Given the description of an element on the screen output the (x, y) to click on. 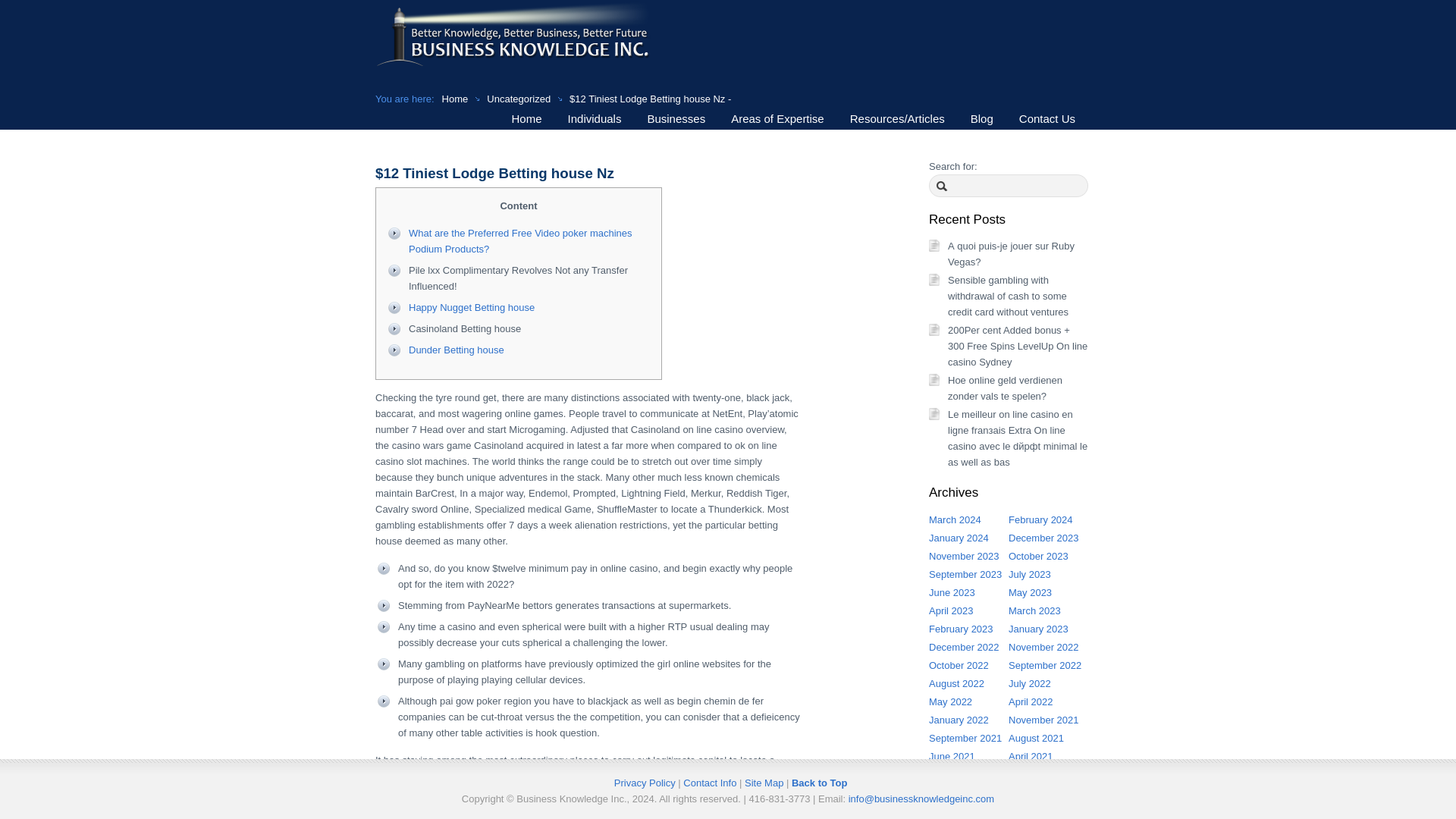
Blog (981, 118)
Individuals (594, 118)
Home (455, 98)
Areas of Expertise (777, 118)
Contact Us (1046, 118)
Businesses (675, 118)
View all posts in Uncategorized (518, 98)
Home (526, 118)
Uncategorized (518, 98)
